Given the description of an element on the screen output the (x, y) to click on. 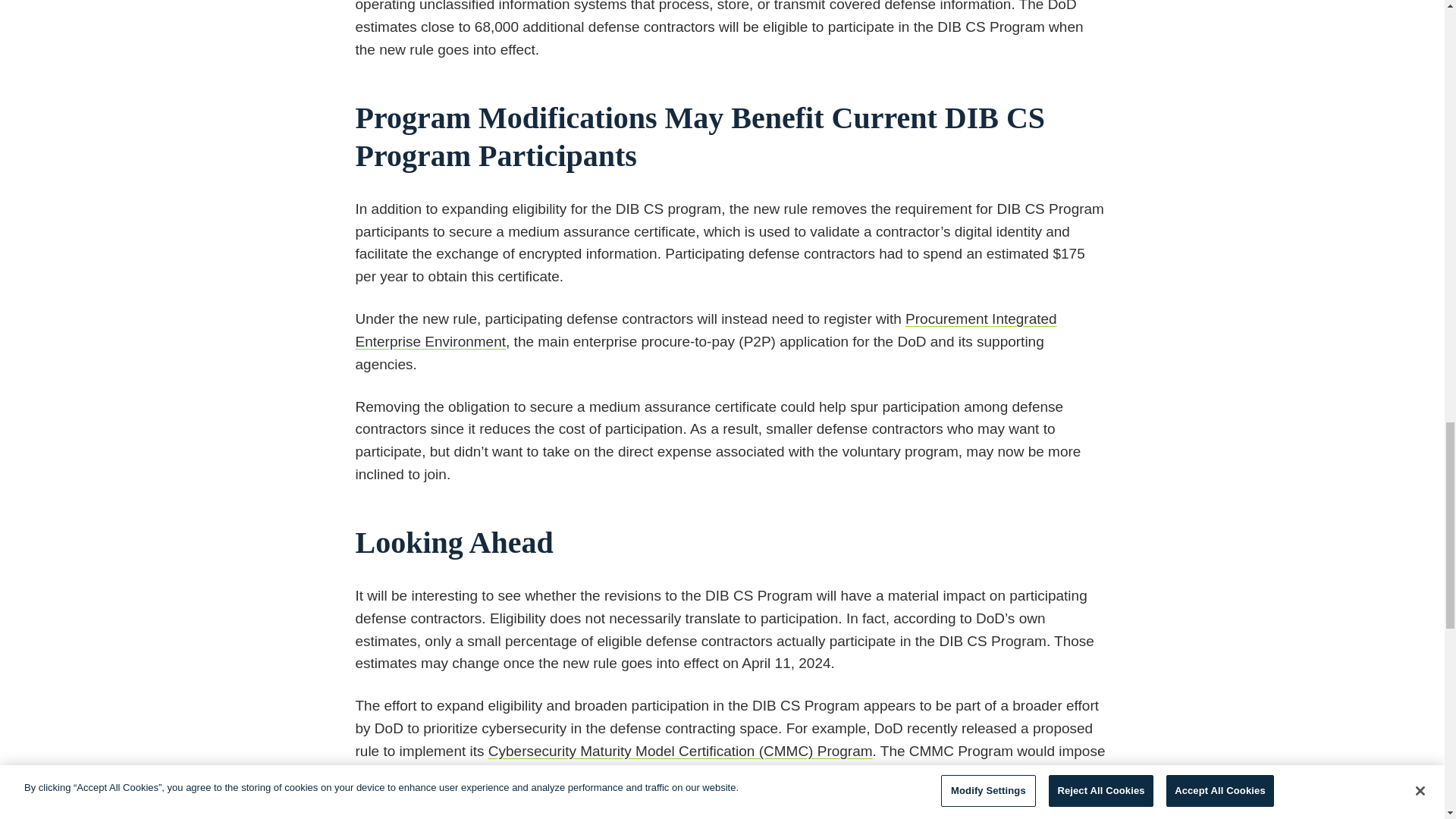
Procurement Integrated Enterprise Environment (706, 330)
